Given the description of an element on the screen output the (x, y) to click on. 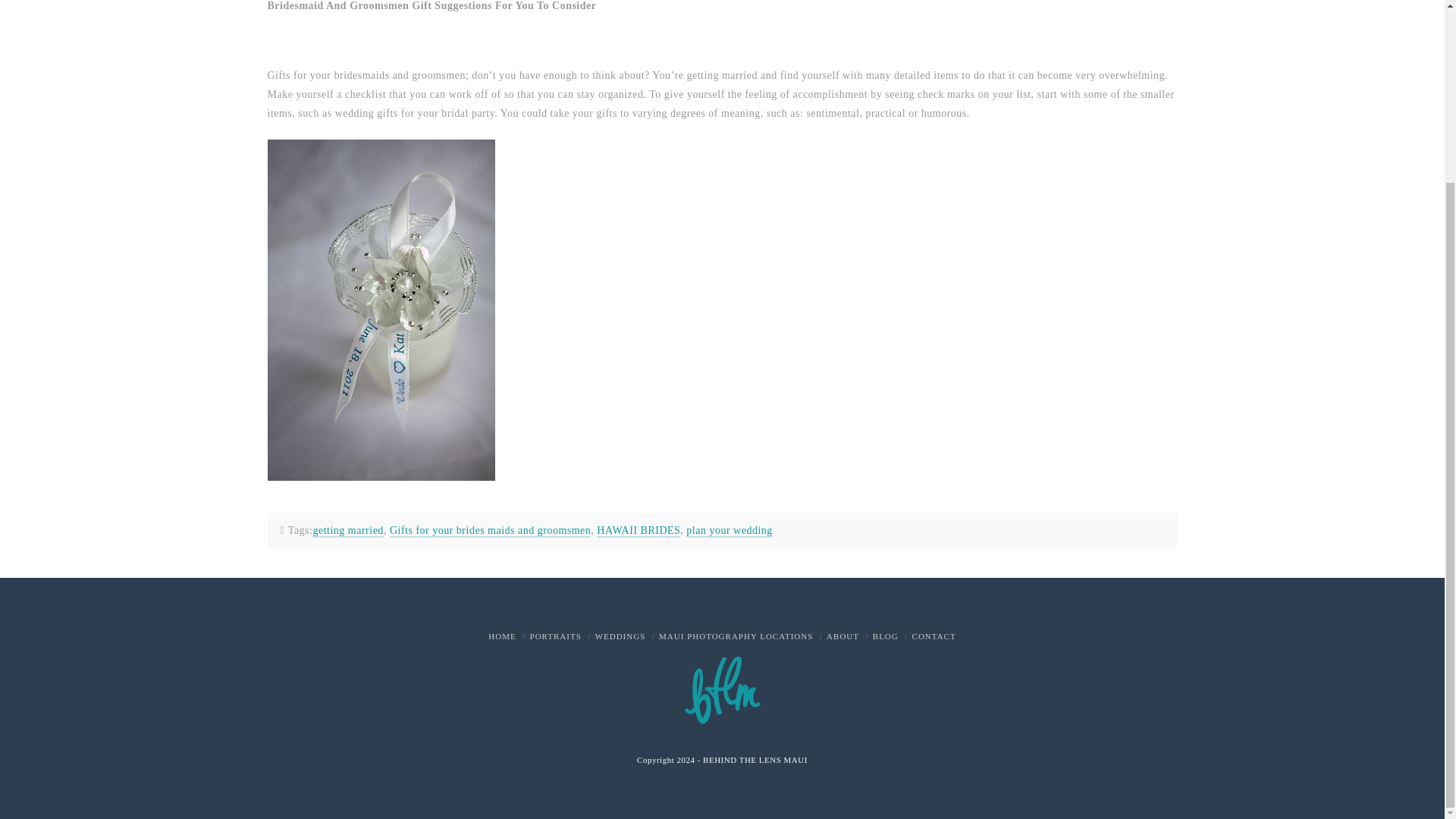
Maui Wedding Photography Home (501, 635)
HOME (501, 635)
WEDDINGS (620, 635)
BLOG (885, 635)
plan your wedding (728, 530)
MAUI PHOTOGRAPHY LOCATIONS (735, 635)
getting married (347, 530)
CONTACT (934, 635)
ABOUT (843, 635)
PORTRAITS (554, 635)
